Given the description of an element on the screen output the (x, y) to click on. 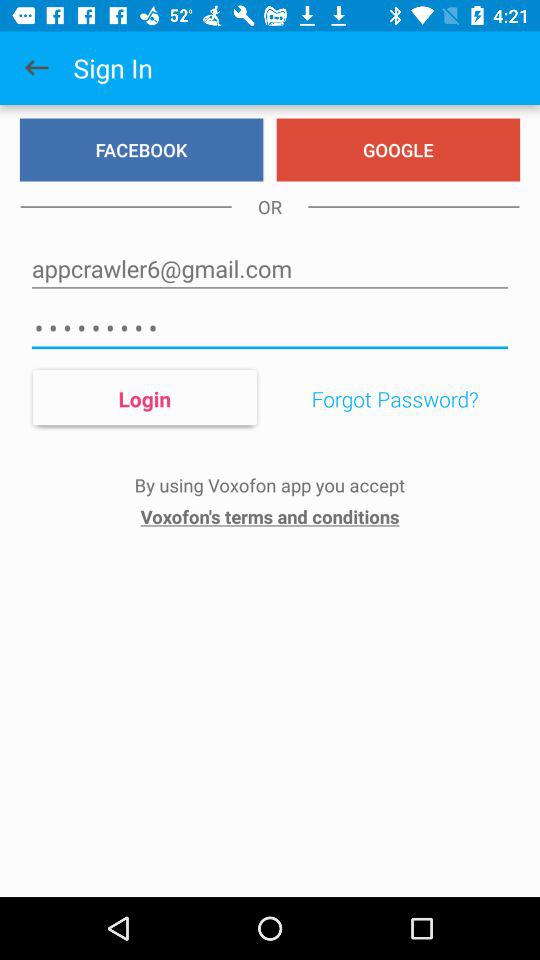
press the icon on the left (144, 398)
